Given the description of an element on the screen output the (x, y) to click on. 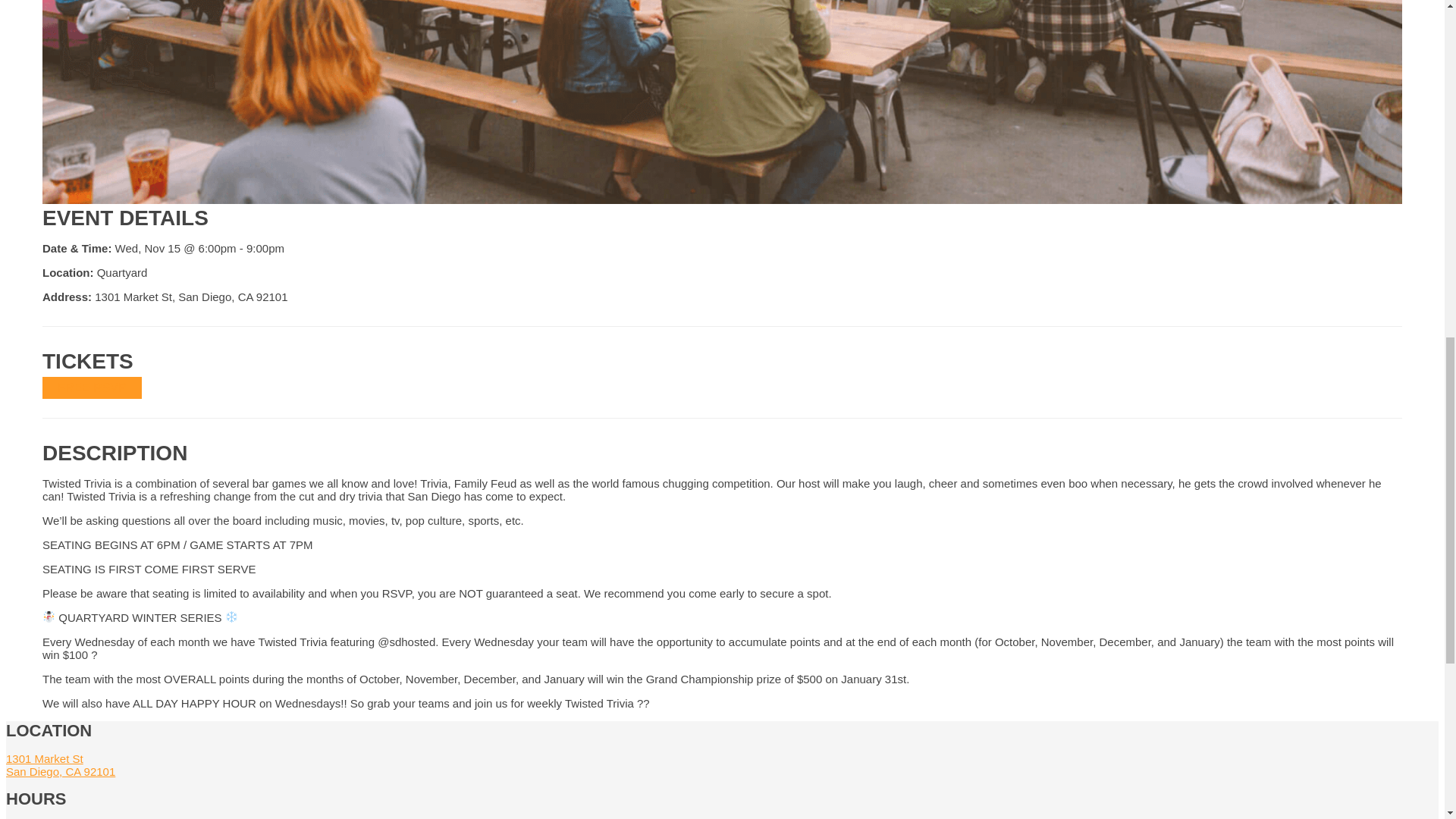
FREE RSVP (60, 765)
